Given the description of an element on the screen output the (x, y) to click on. 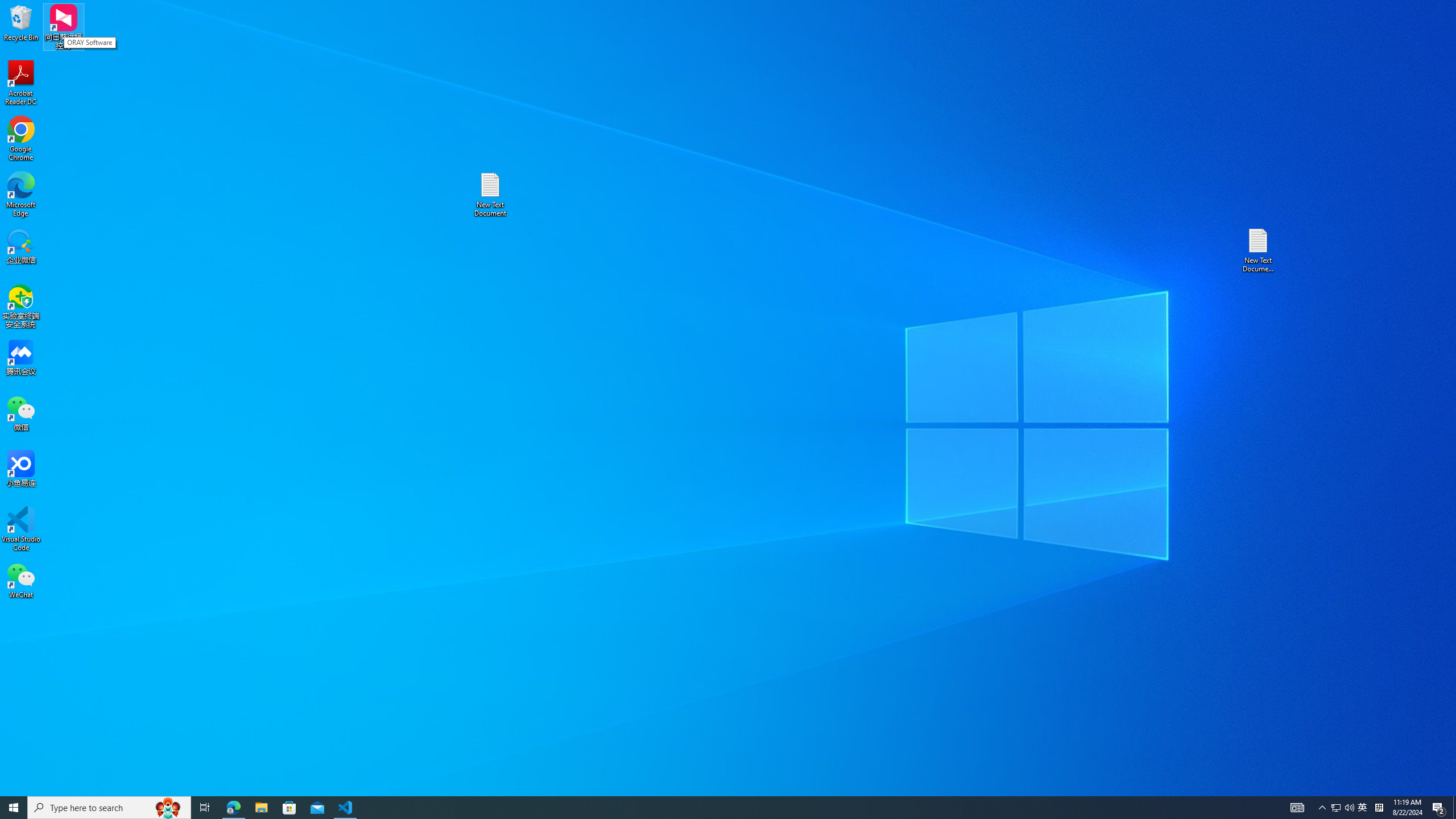
Recycle Bin (1362, 807)
New Text Document (2) (21, 22)
WeChat (1258, 250)
Google Chrome (21, 580)
